Given the description of an element on the screen output the (x, y) to click on. 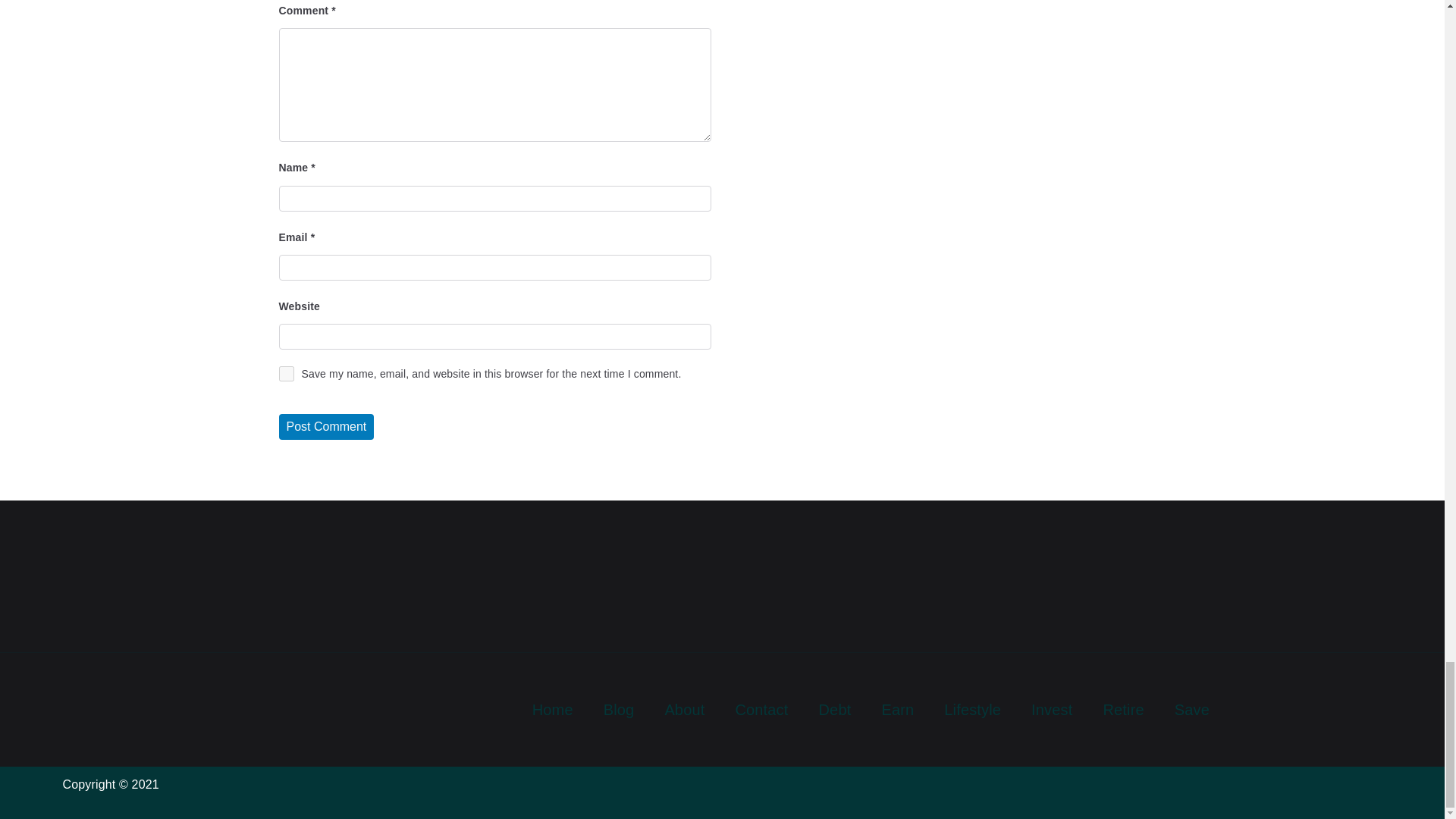
Post Comment (326, 426)
Post Comment (326, 426)
yes (286, 373)
Home (552, 709)
